Given the description of an element on the screen output the (x, y) to click on. 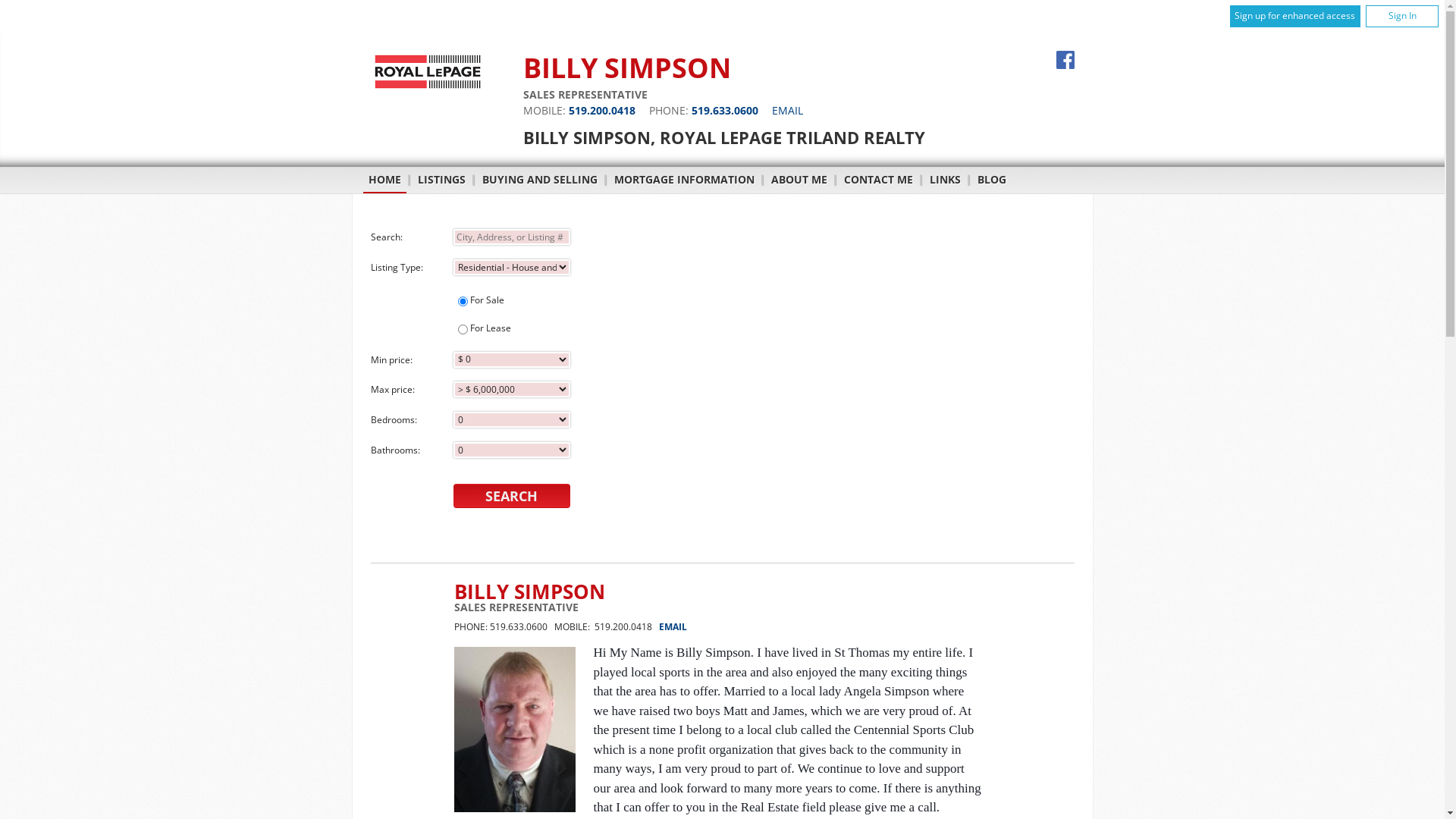
ABOUT ME Element type: text (798, 179)
EMAIL Element type: text (672, 626)
BUYING AND SELLING Element type: text (539, 179)
519.200.0418 Element type: text (601, 110)
LISTINGS Element type: text (441, 179)
Search Element type: text (511, 495)
519.633.0600 Element type: text (724, 110)
MORTGAGE INFORMATION Element type: text (683, 179)
Home Element type: hover (426, 88)
EMAIL Element type: text (787, 110)
HOME Element type: text (383, 182)
BLOG Element type: text (991, 179)
Billy Simpson Element type: hover (513, 729)
LINKS Element type: text (944, 179)
CONTACT ME Element type: text (878, 179)
